Given the description of an element on the screen output the (x, y) to click on. 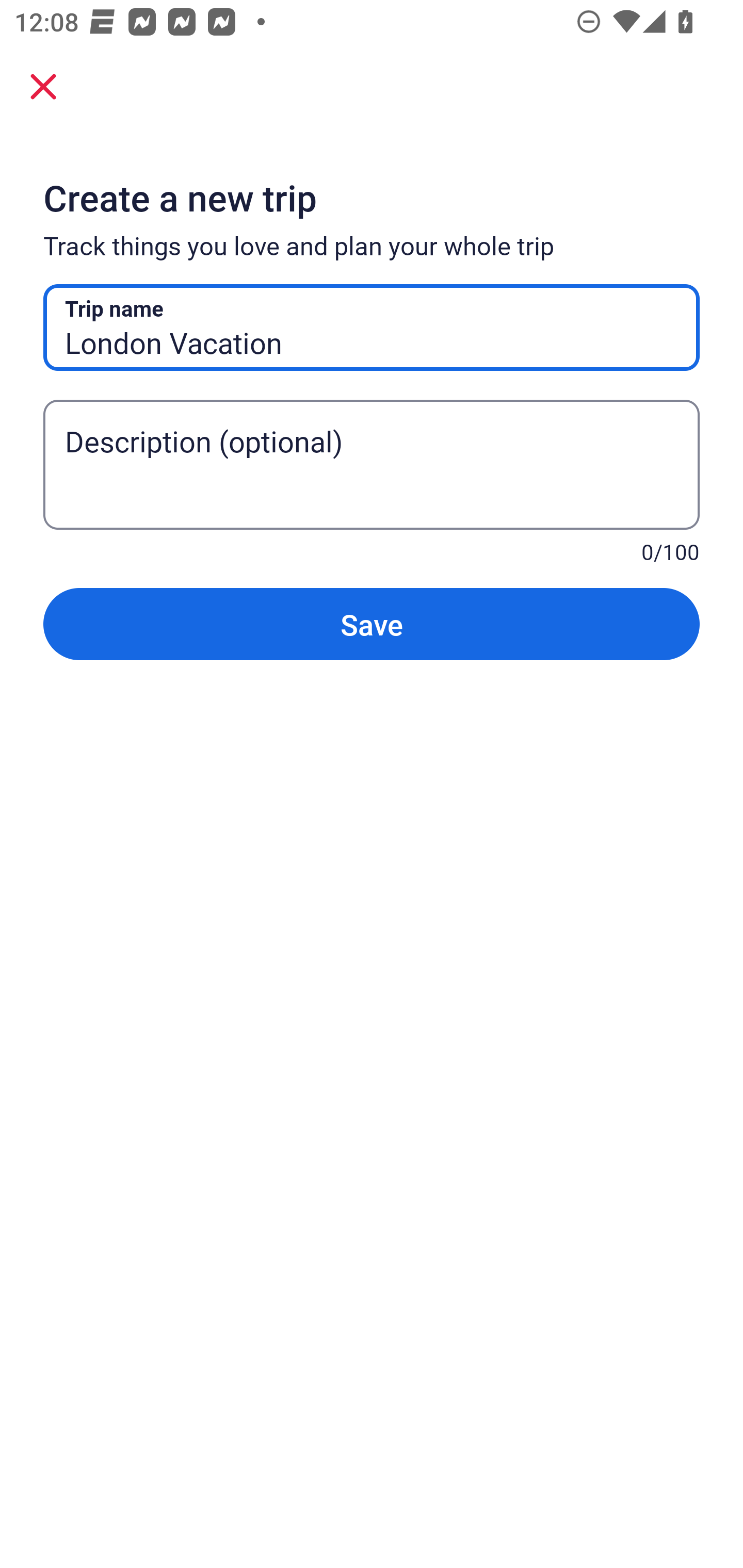
Close (43, 86)
London Vacation Trip name Trip name (371, 327)
Save Button Save (371, 624)
